Given the description of an element on the screen output the (x, y) to click on. 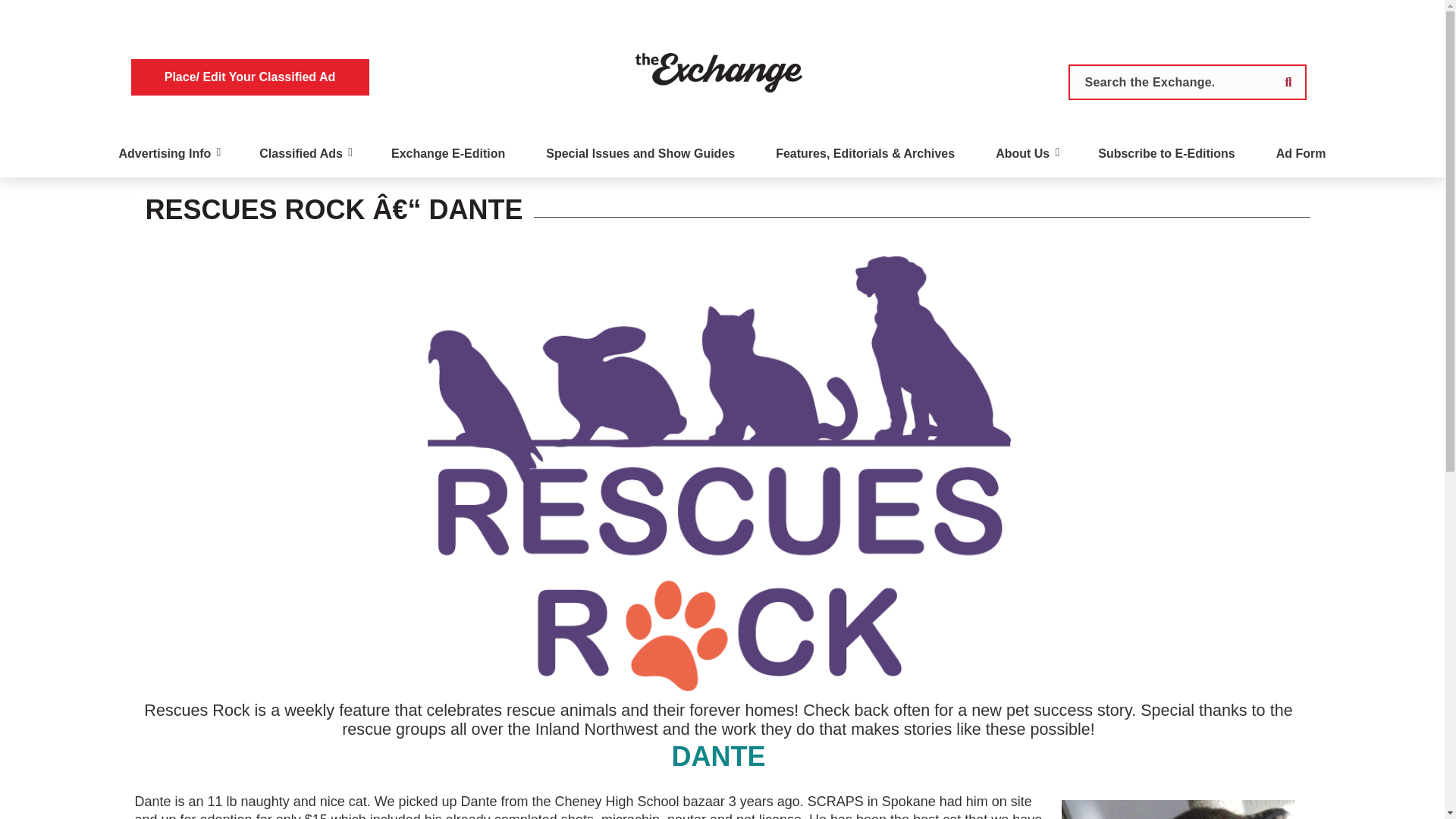
Advertising Info (165, 156)
